Given the description of an element on the screen output the (x, y) to click on. 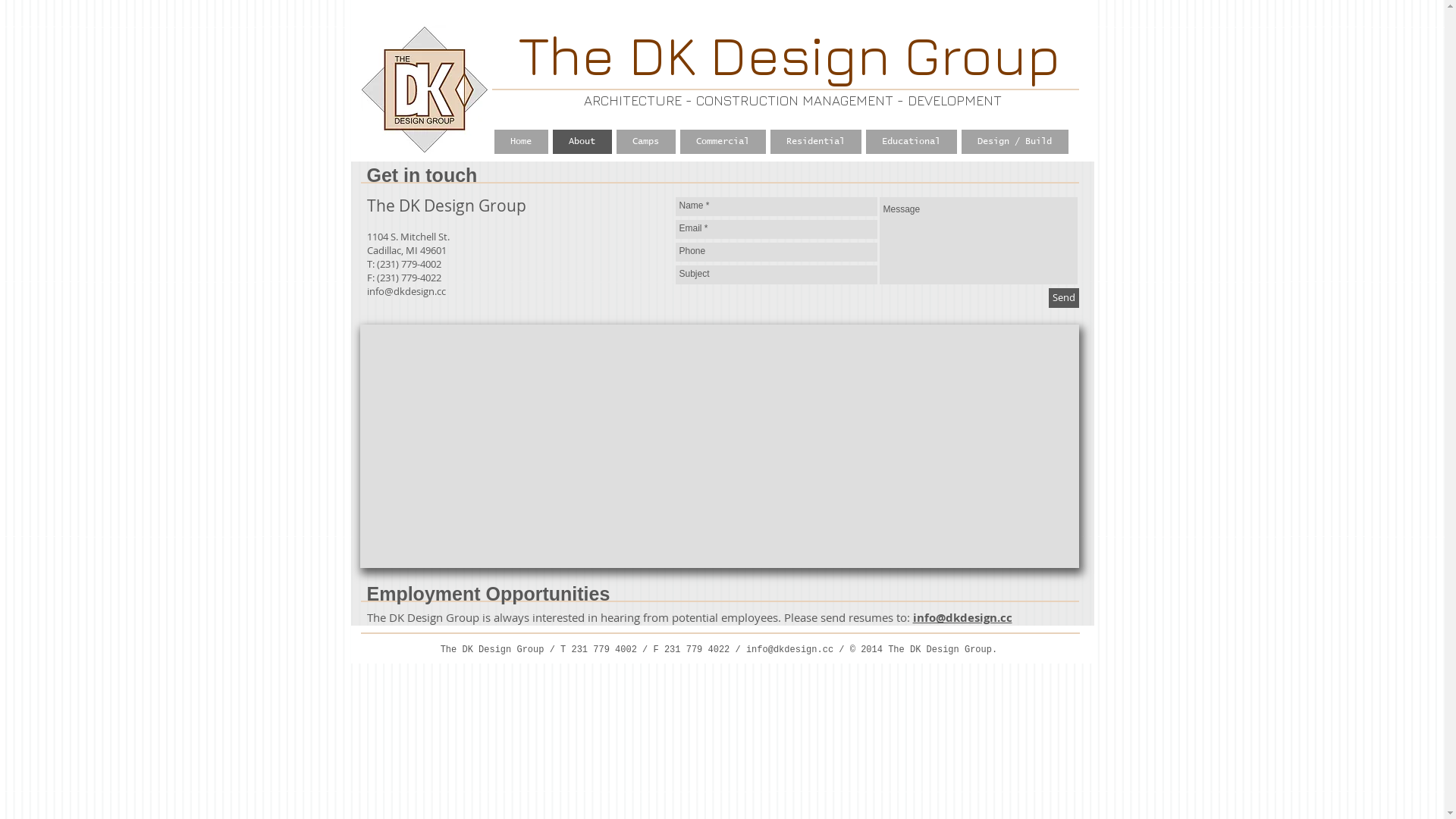
Design / Build Element type: text (1014, 141)
Send Element type: text (1063, 297)
info@dkdesign.cc Element type: text (406, 291)
DK TB logo new.jpg Element type: hover (424, 89)
Commercial Element type: text (722, 141)
Residential Element type: text (815, 141)
Educational Element type: text (911, 141)
info@dkdesign.cc Element type: text (789, 649)
info@dkdesign.cc Element type: text (962, 616)
About Element type: text (581, 141)
Camps Element type: text (644, 141)
Home Element type: text (521, 141)
